Given the description of an element on the screen output the (x, y) to click on. 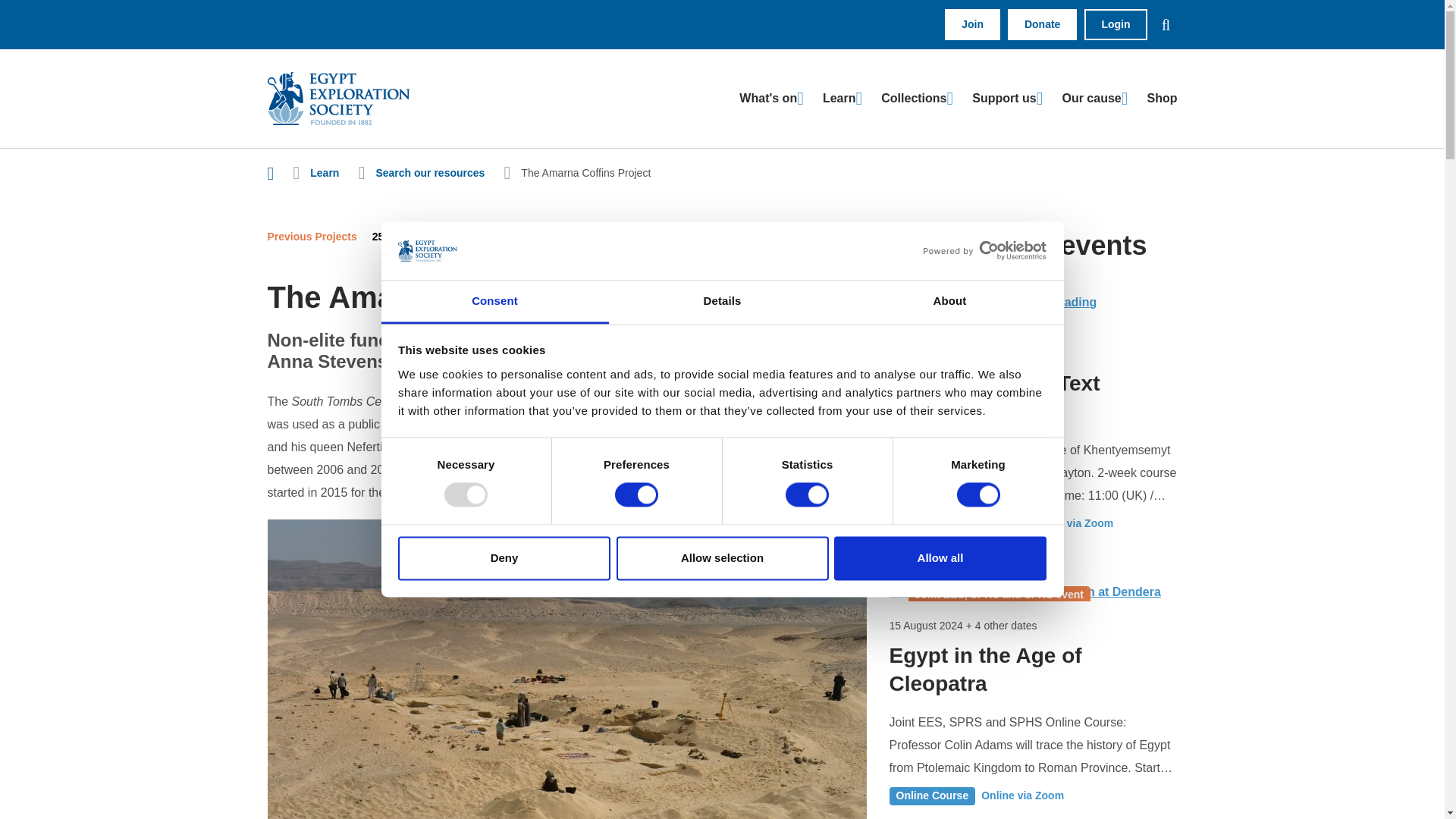
Donate (1042, 24)
About (948, 301)
Join (972, 24)
Allow all (940, 557)
Details (721, 301)
Donate (1042, 24)
Allow selection (721, 557)
Deny (503, 557)
Consent (494, 301)
Login (1115, 24)
